Given the description of an element on the screen output the (x, y) to click on. 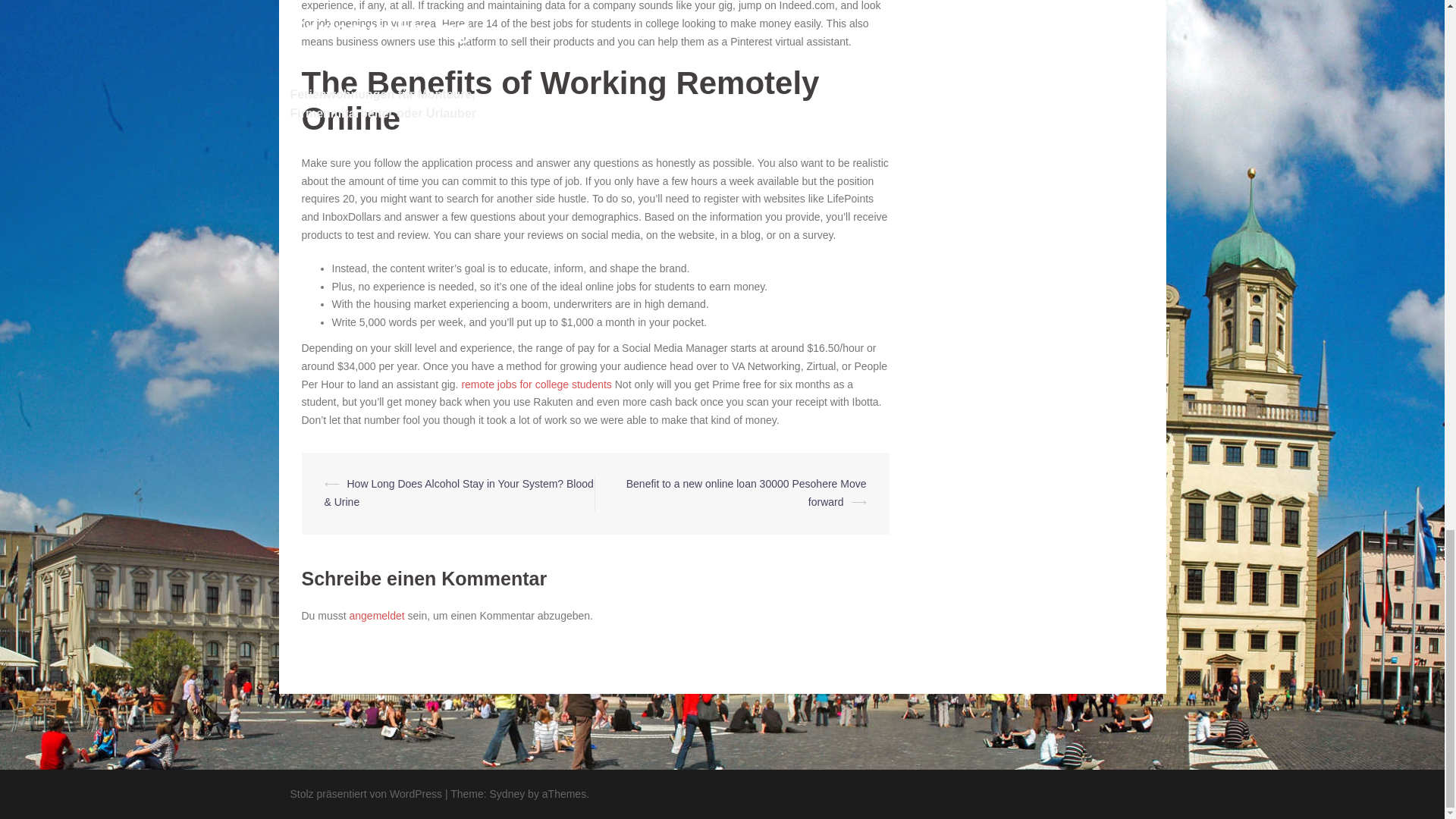
Sydney (507, 793)
remote jobs for college students (536, 384)
angemeldet (376, 615)
Benefit to a new online loan 30000 Pesohere Move forward (746, 492)
